Given the description of an element on the screen output the (x, y) to click on. 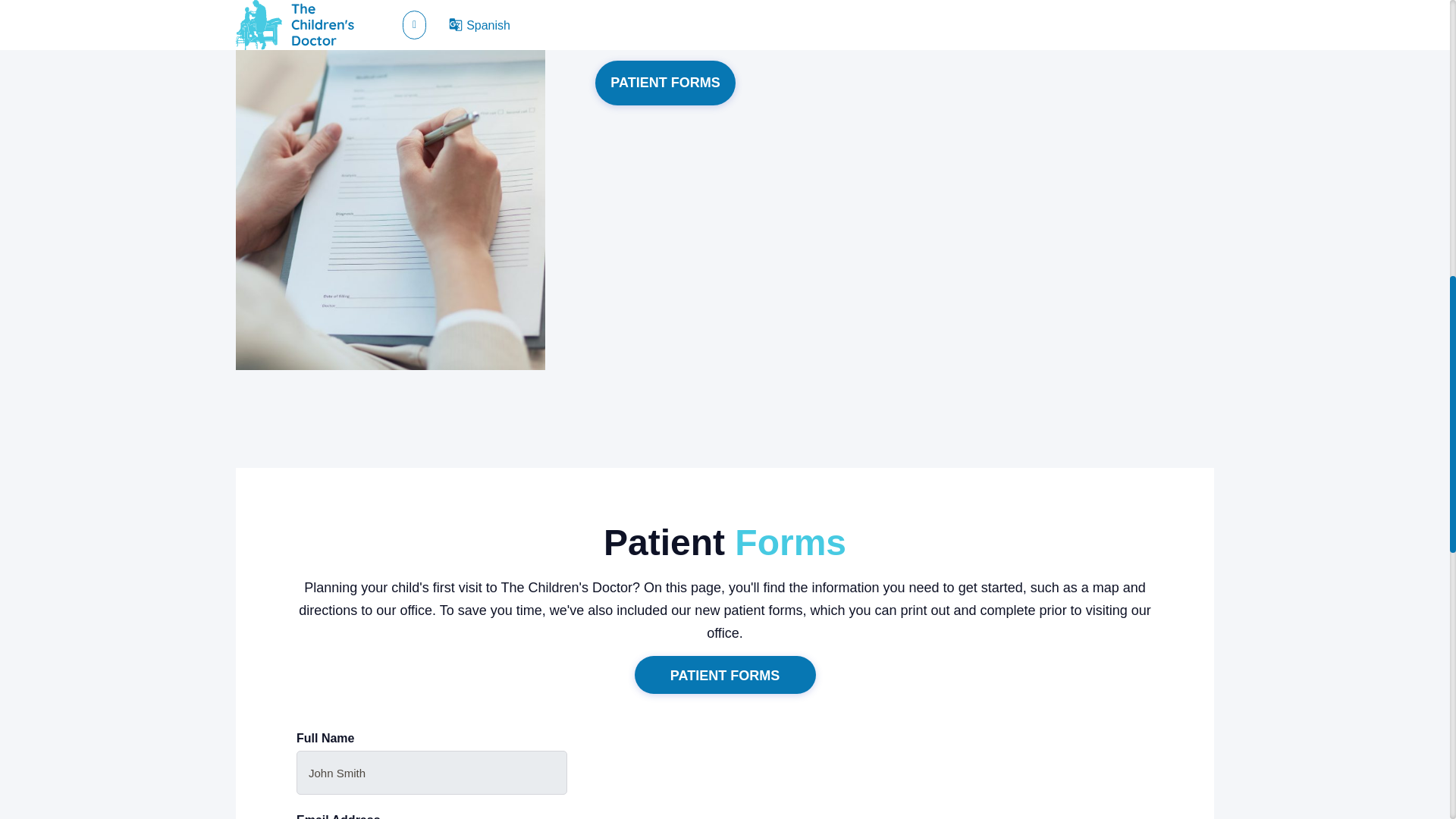
PATIENT FORMS (724, 674)
PATIENT FORMS (665, 82)
